Given the description of an element on the screen output the (x, y) to click on. 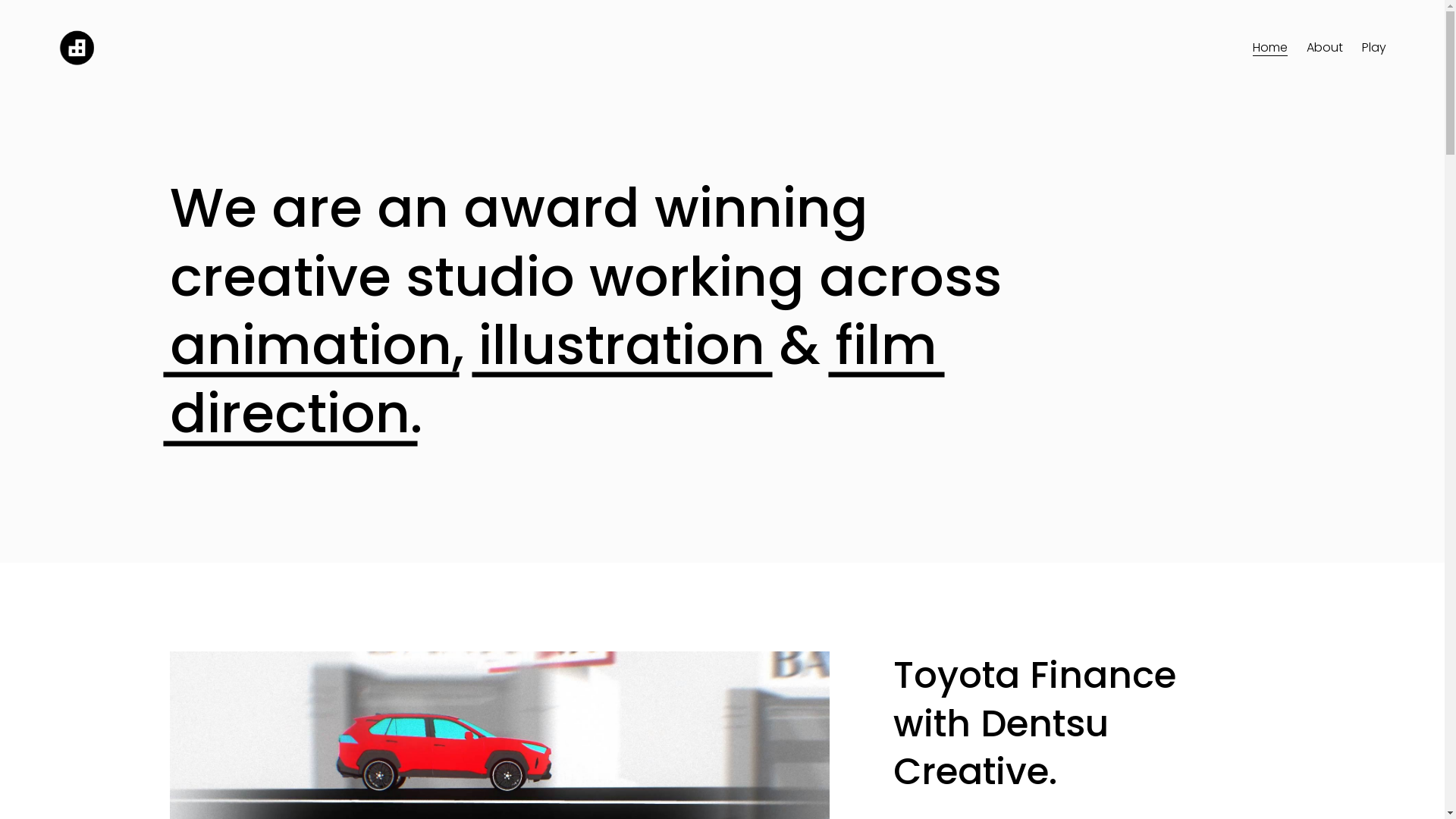
About Element type: text (1324, 48)
Home Element type: text (1269, 48)
Play Element type: text (1373, 48)
